Given the description of an element on the screen output the (x, y) to click on. 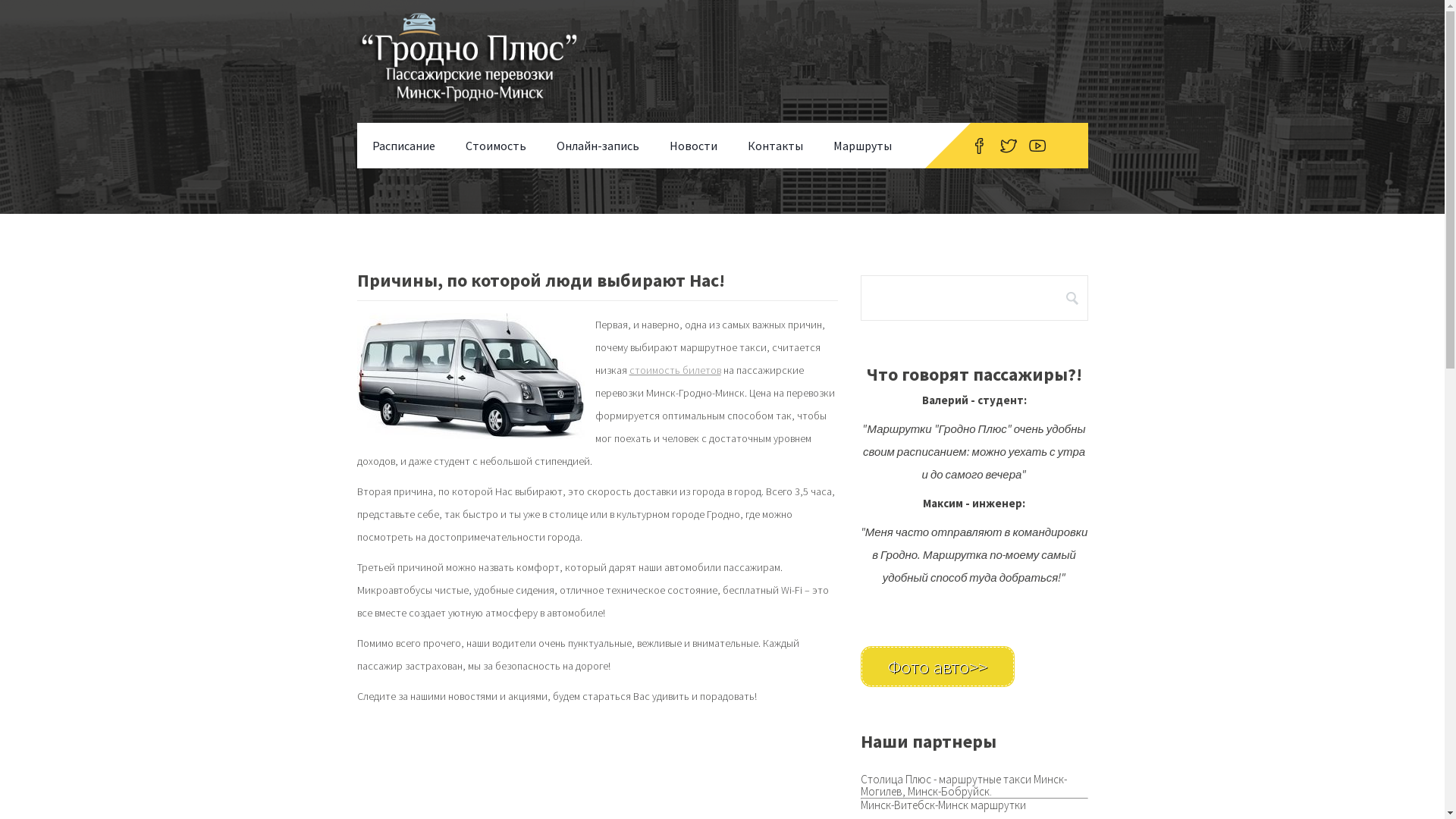
Twitter Element type: hover (1007, 145)
Search Element type: text (1072, 297)
Facebook Element type: hover (979, 145)
YouTube Element type: hover (1036, 145)
